Given the description of an element on the screen output the (x, y) to click on. 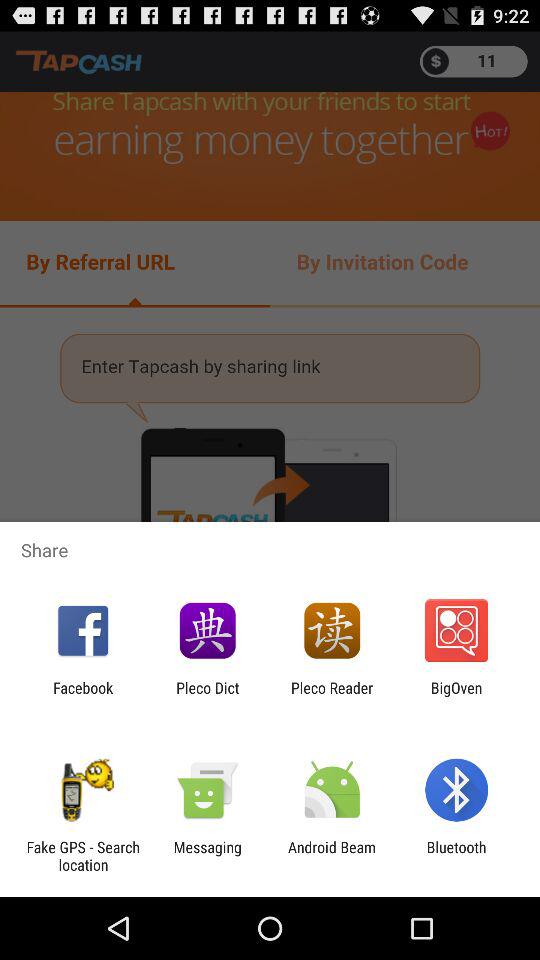
flip to the bigoven (456, 696)
